Given the description of an element on the screen output the (x, y) to click on. 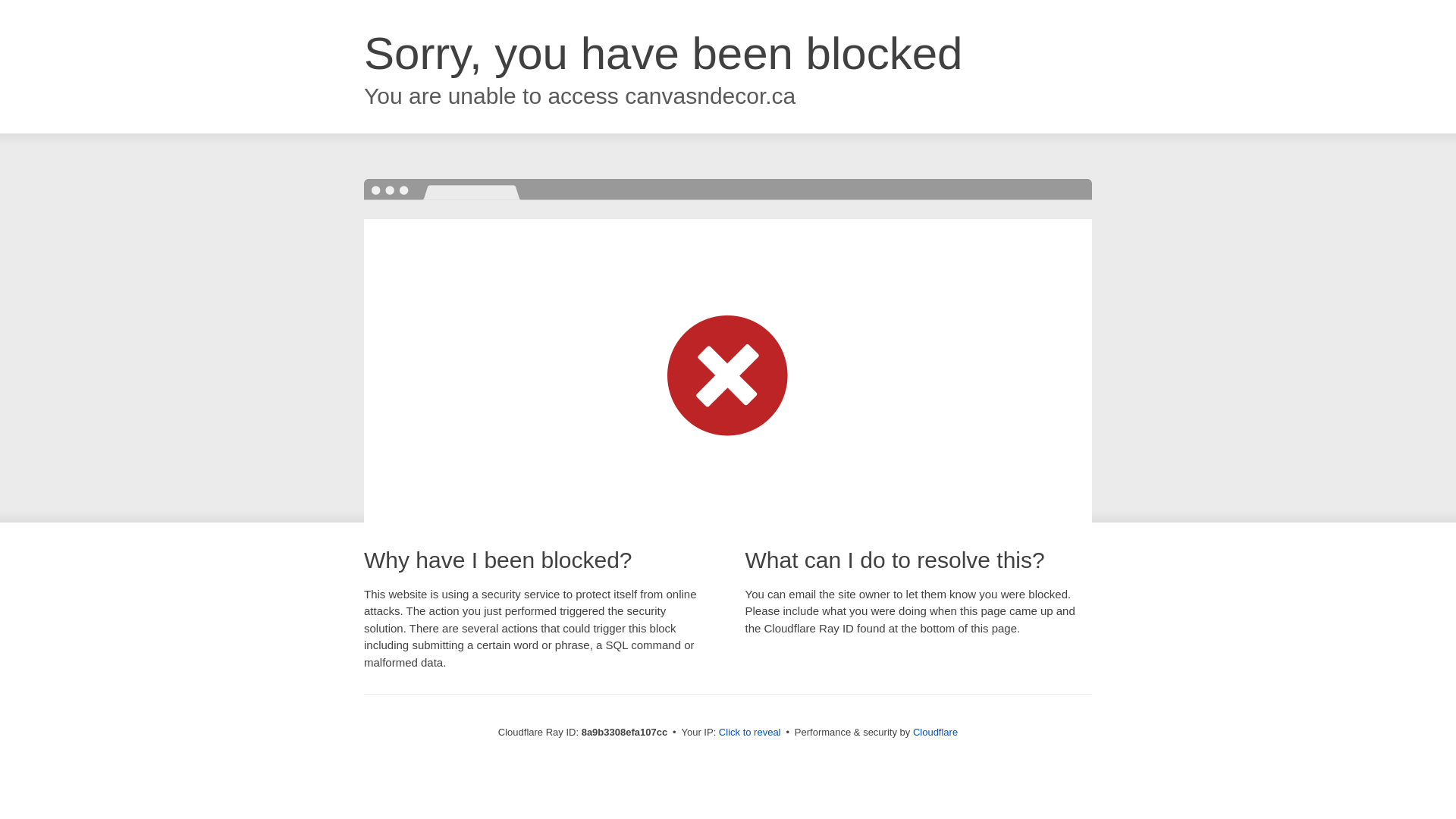
Click to reveal (749, 732)
Cloudflare (935, 731)
